Given the description of an element on the screen output the (x, y) to click on. 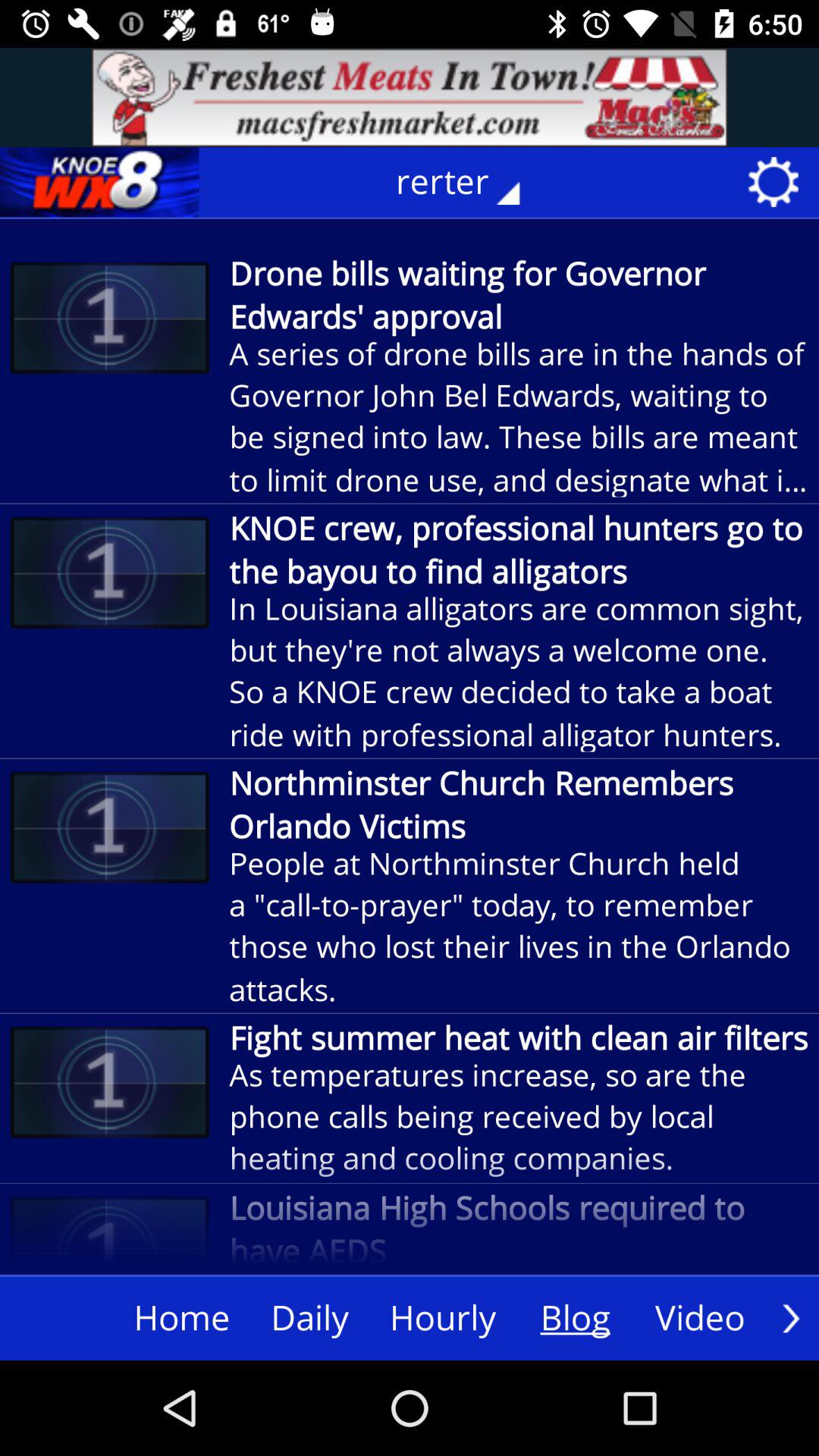
advertisement (409, 97)
